Given the description of an element on the screen output the (x, y) to click on. 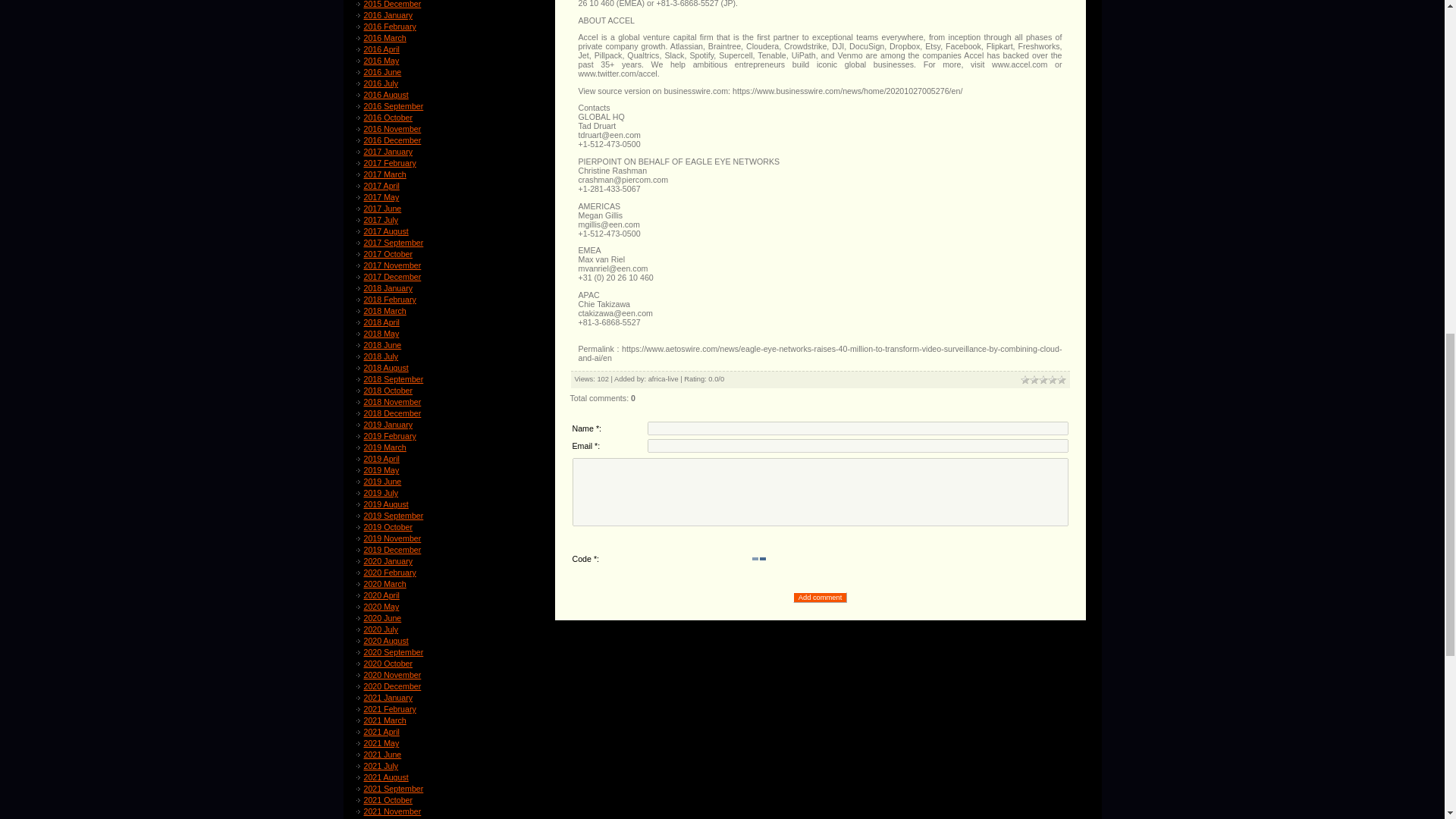
Add comment (820, 597)
